Given the description of an element on the screen output the (x, y) to click on. 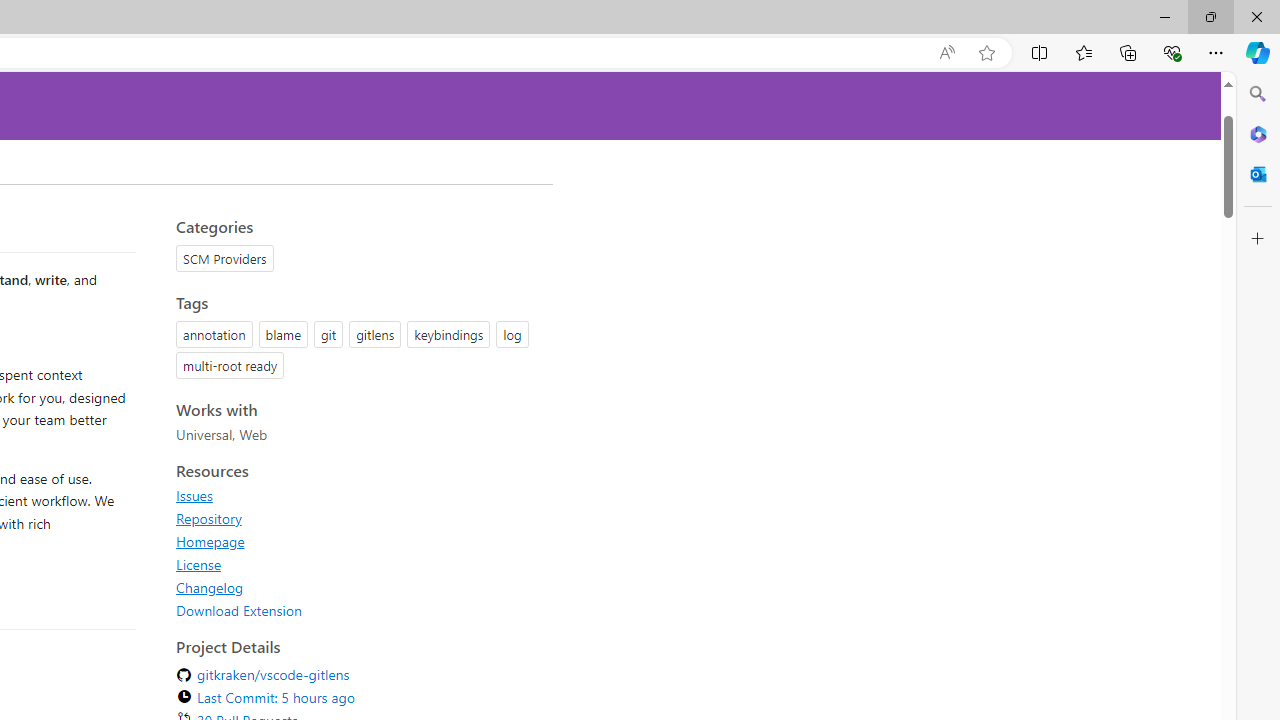
Download Extension (358, 610)
Download Extension (239, 610)
License (358, 564)
